Given the description of an element on the screen output the (x, y) to click on. 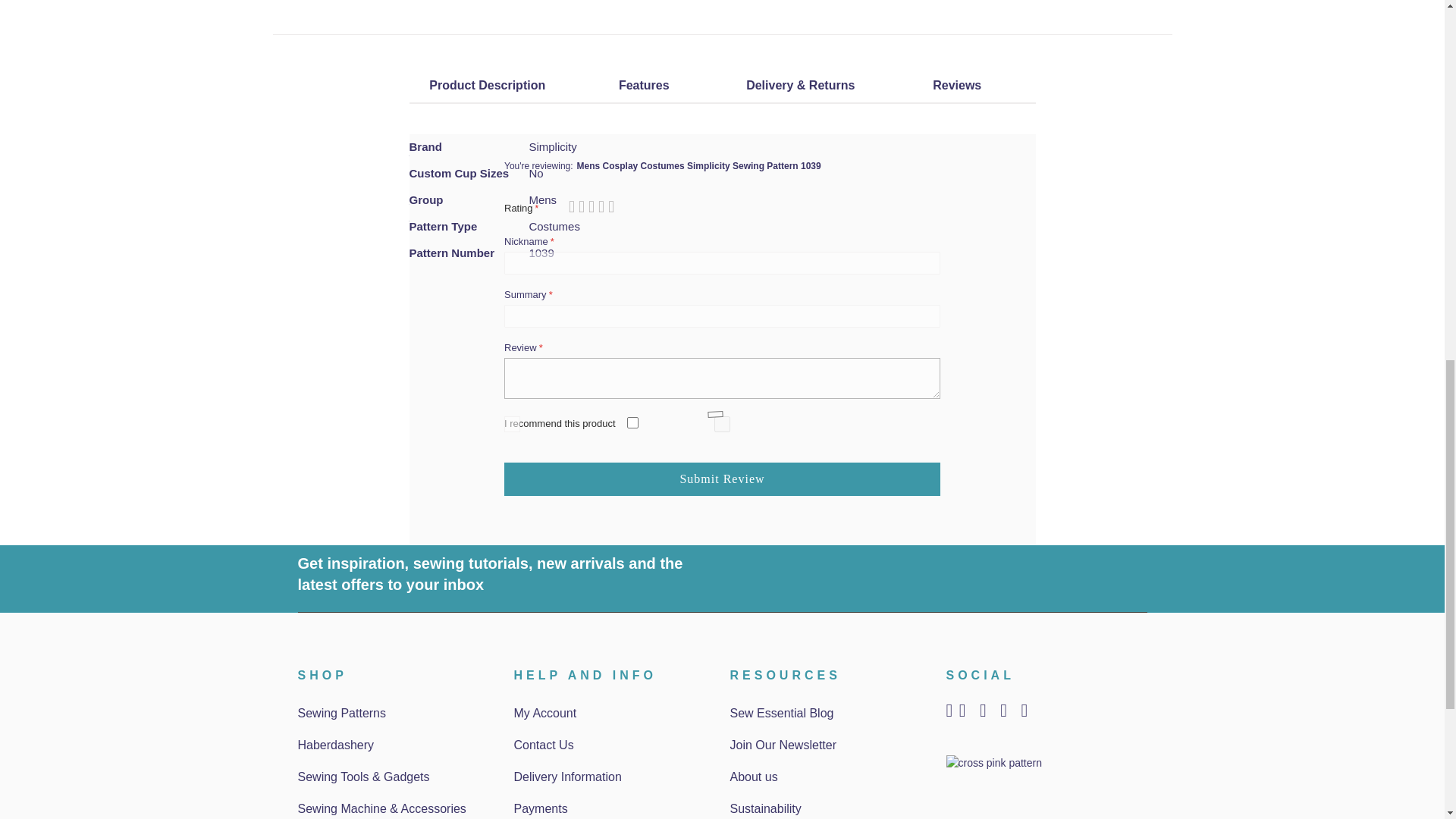
1 (721, 424)
